Given the description of an element on the screen output the (x, y) to click on. 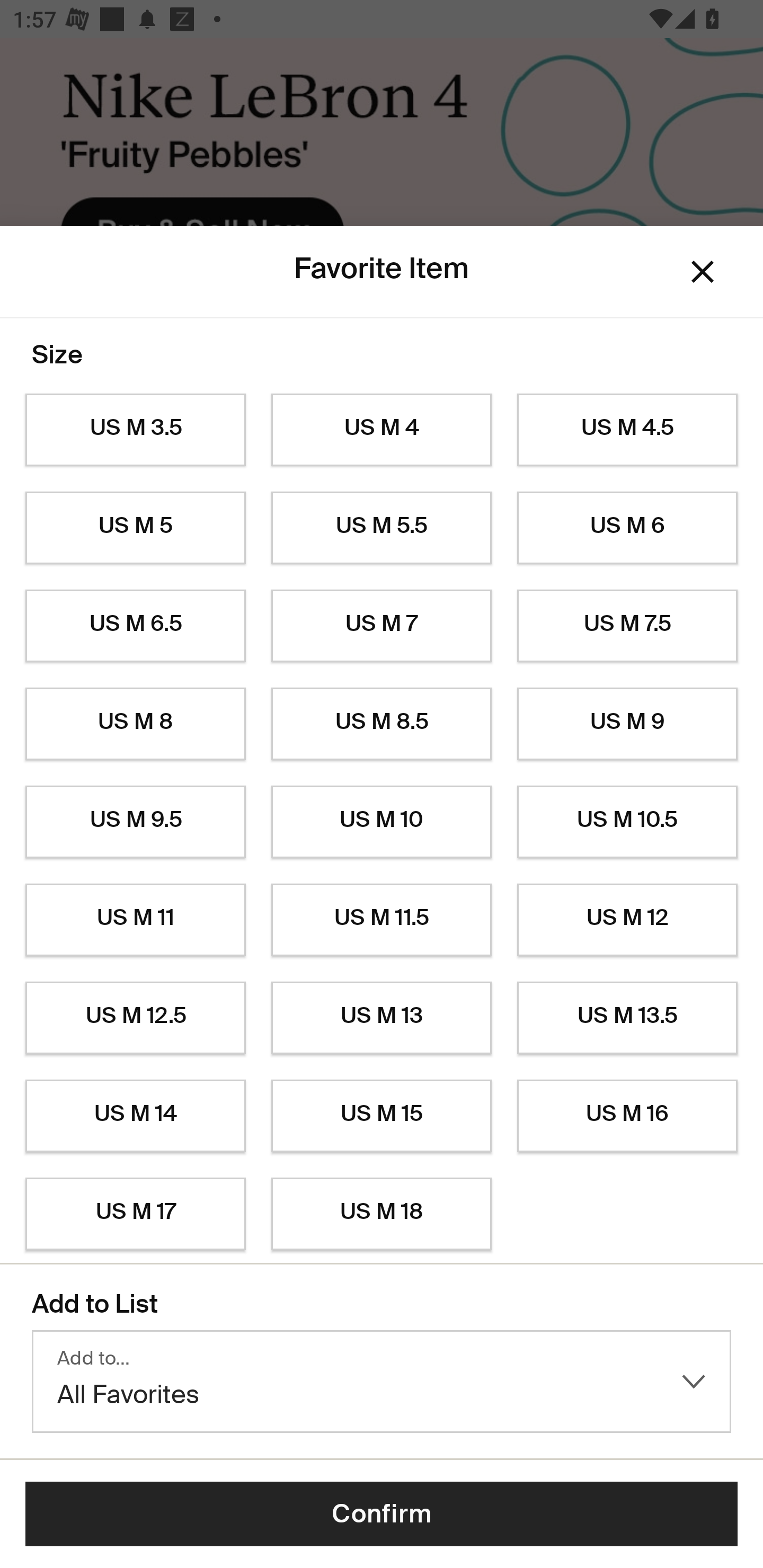
Dismiss (702, 271)
US M 3.5 (135, 430)
US M 4 (381, 430)
US M 4.5 (627, 430)
US M 5 (135, 527)
US M 5.5 (381, 527)
US M 6 (627, 527)
US M 6.5 (135, 626)
US M 7 (381, 626)
US M 7.5 (627, 626)
US M 8 (135, 724)
US M 8.5 (381, 724)
US M 9 (627, 724)
US M 9.5 (135, 822)
US M 10 (381, 822)
US M 10.5 (627, 822)
US M 11 (135, 919)
US M 11.5 (381, 919)
US M 12 (627, 919)
US M 12.5 (135, 1018)
US M 13 (381, 1018)
US M 13.5 (627, 1018)
US M 14 (135, 1116)
US M 15 (381, 1116)
US M 16 (627, 1116)
US M 17 (135, 1214)
US M 18 (381, 1214)
Add to… All Favorites (381, 1381)
Confirm (381, 1513)
